Given the description of an element on the screen output the (x, y) to click on. 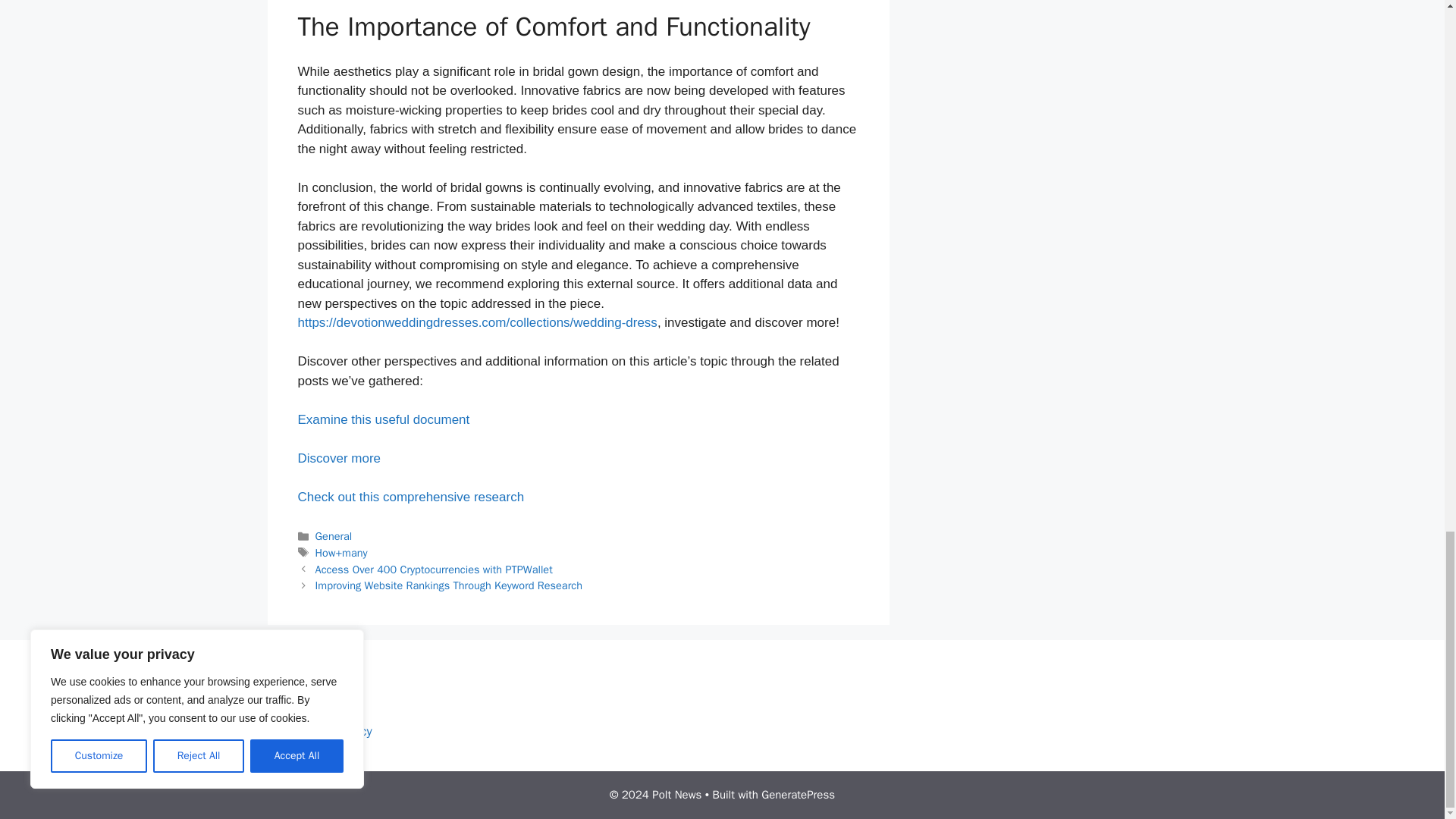
Examine this useful document (382, 419)
Check out this comprehensive research (410, 496)
Improving Website Rankings Through Keyword Research (448, 585)
General (333, 535)
Access Over 400 Cryptocurrencies with PTPWallet (434, 569)
Discover more (338, 458)
